Given the description of an element on the screen output the (x, y) to click on. 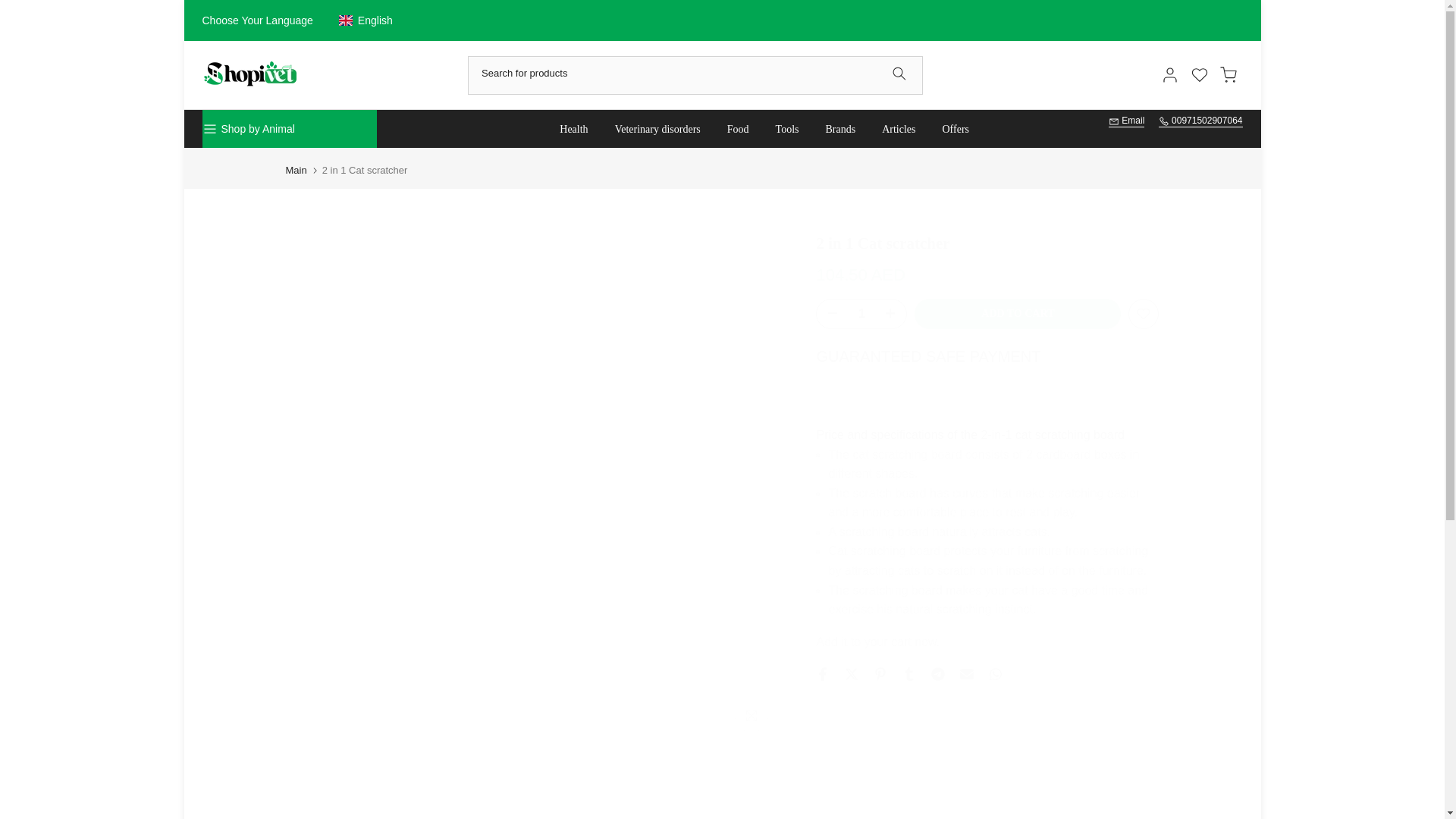
Tools (786, 129)
Email (1126, 121)
Offers (955, 129)
Post by email (966, 673)
Post on Telegram (937, 673)
Share on WhatsApp (995, 673)
ADD TO CART (1017, 313)
Post on Tumblr (908, 673)
00971502907064 (1200, 121)
Food (737, 129)
